Given the description of an element on the screen output the (x, y) to click on. 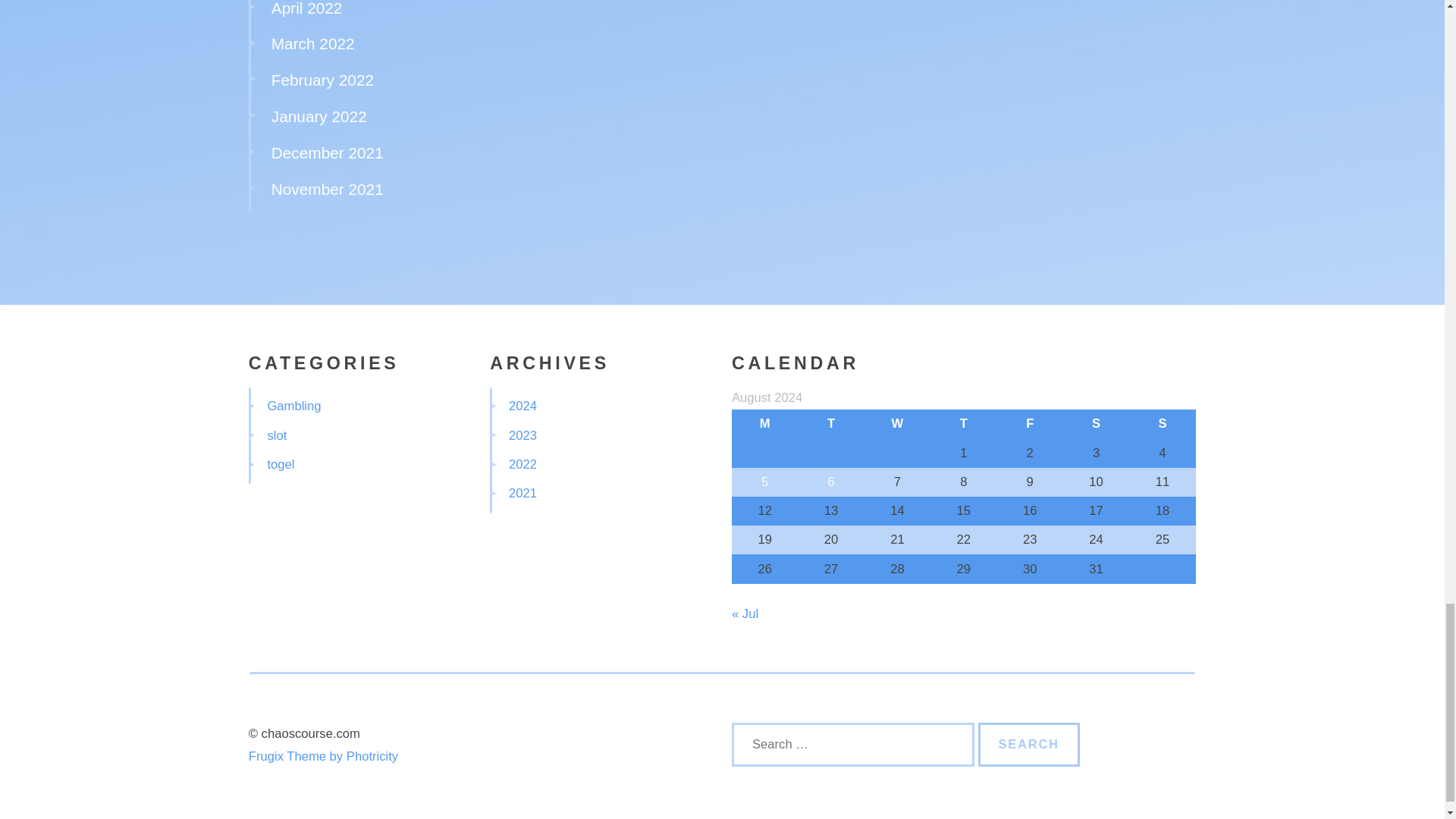
Thursday (962, 423)
Sunday (1162, 423)
Search (1029, 744)
Friday (1029, 423)
Monday (764, 423)
Wednesday (897, 423)
Tuesday (830, 423)
Saturday (1095, 423)
Search (1029, 744)
